Given the description of an element on the screen output the (x, y) to click on. 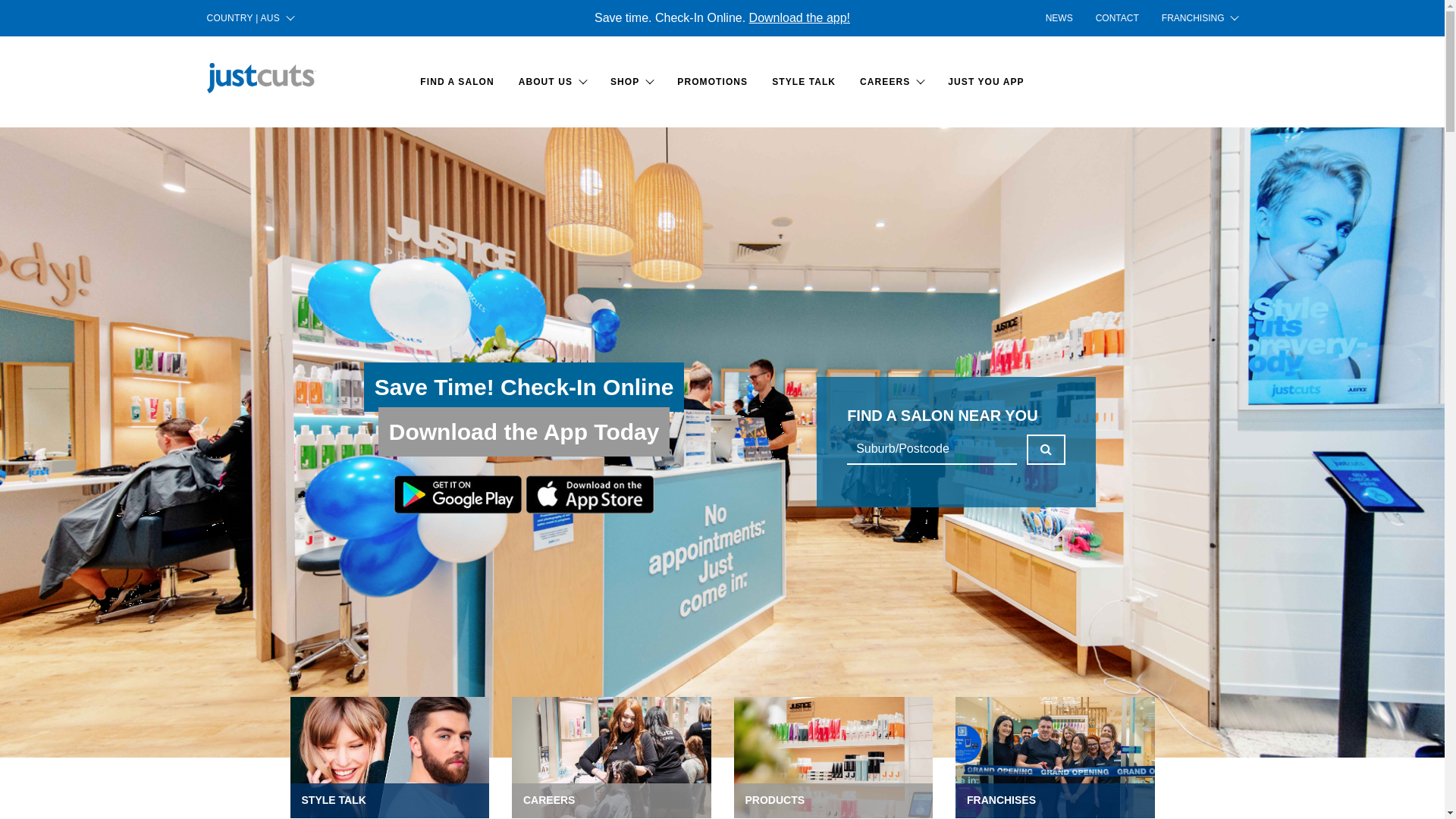
PRODUCTS Element type: text (833, 757)
SHOP Element type: text (631, 81)
ABOUT US Element type: text (552, 81)
STYLE TALK Element type: text (389, 757)
CAREERS Element type: text (611, 757)
JUST YOU APP Element type: text (985, 81)
CAREERS Element type: text (891, 81)
FIND A SALON Element type: text (456, 81)
CONTACT Element type: text (1117, 18)
Search Element type: hover (1045, 449)
Just Cuts Home Page Element type: hover (260, 77)
FRANCHISING Element type: text (1194, 18)
COUNTRY | AUS Element type: text (249, 18)
STYLE TALK Element type: text (803, 81)
NEWS Element type: text (1059, 18)
PROMOTIONS Element type: text (712, 81)
Download the app! Element type: text (799, 17)
FRANCHISES Element type: text (1054, 757)
